Given the description of an element on the screen output the (x, y) to click on. 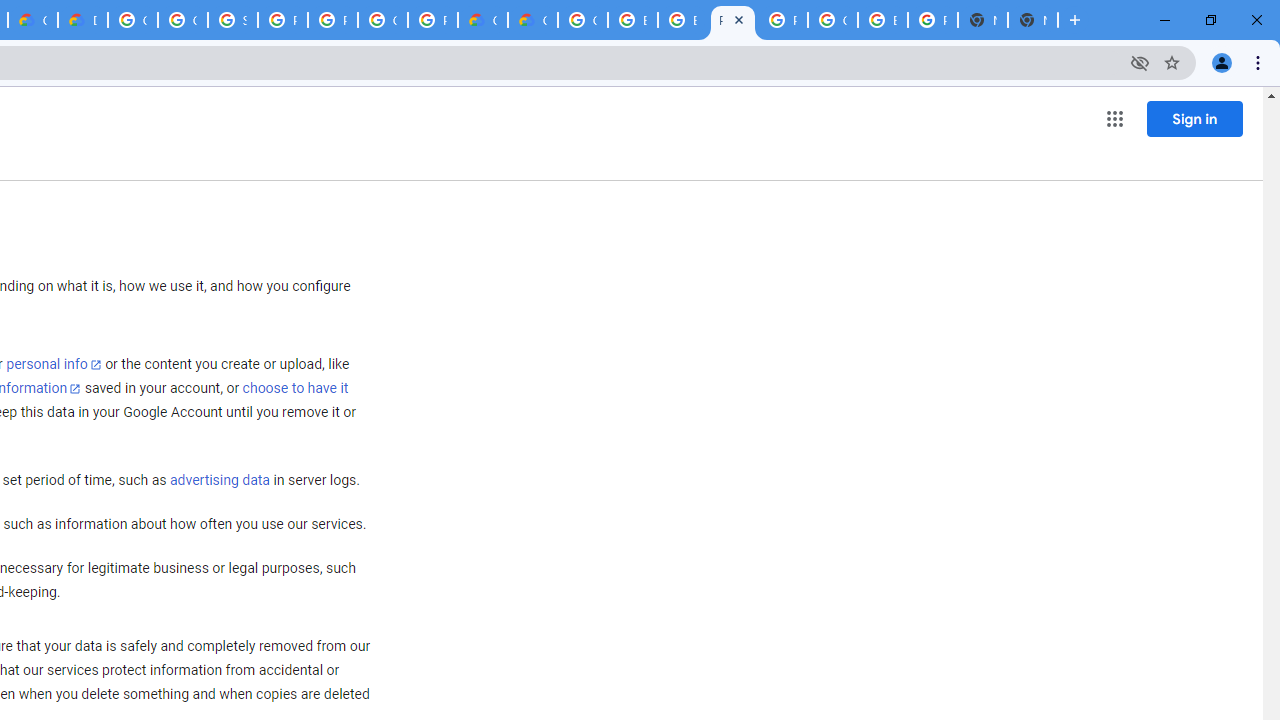
Sign in - Google Accounts (232, 20)
